Given the description of an element on the screen output the (x, y) to click on. 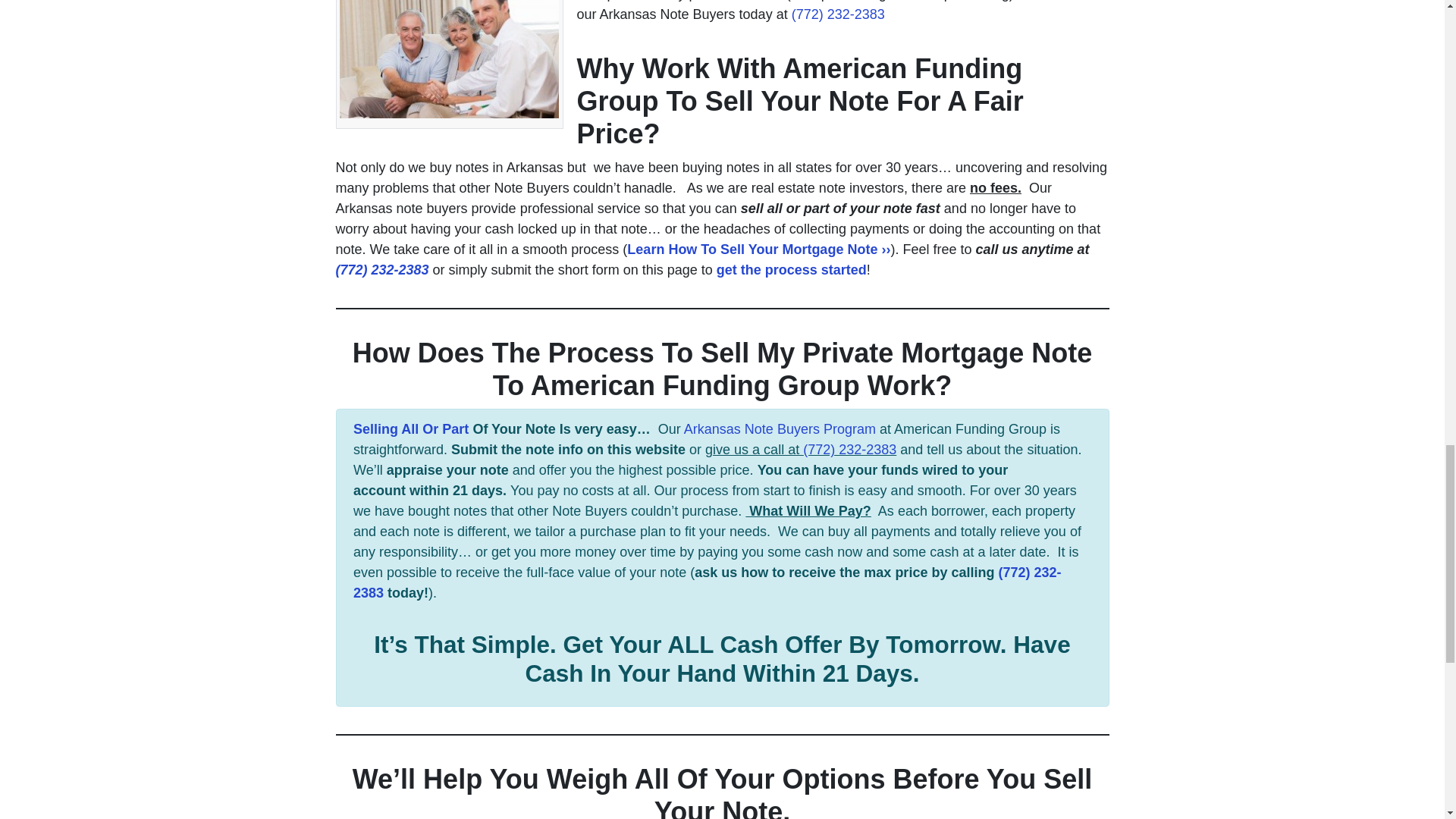
Selling All Or Part (410, 428)
Arkansas Note Buyers Program (780, 428)
get the process started (791, 269)
